Given the description of an element on the screen output the (x, y) to click on. 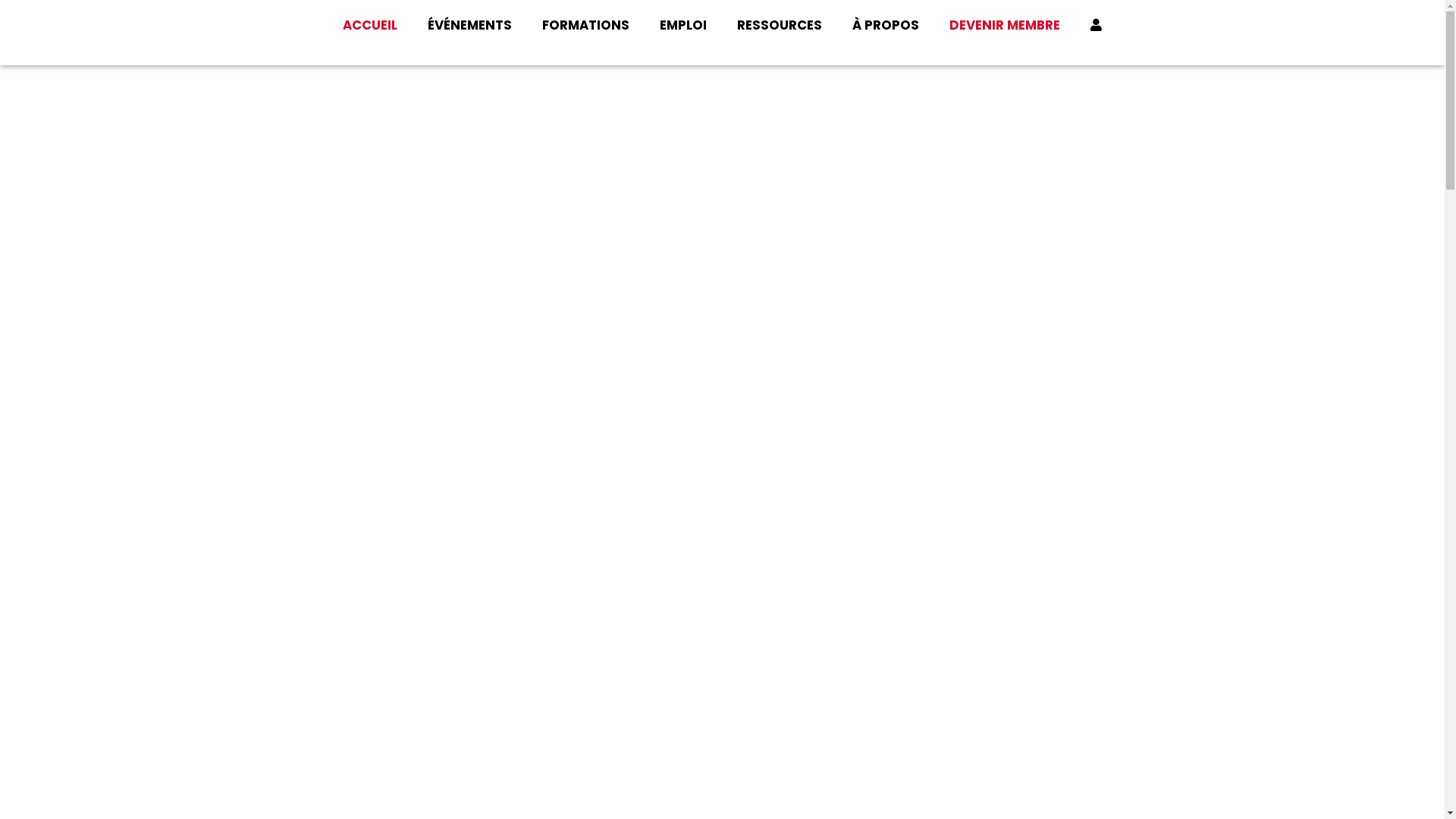
ACCUEIL Element type: text (369, 24)
EMPLOI Element type: text (682, 24)
DEVENIR MEMBRE Element type: text (1004, 24)
FORMATIONS Element type: text (585, 24)
RESSOURCES Element type: text (779, 24)
